Given the description of an element on the screen output the (x, y) to click on. 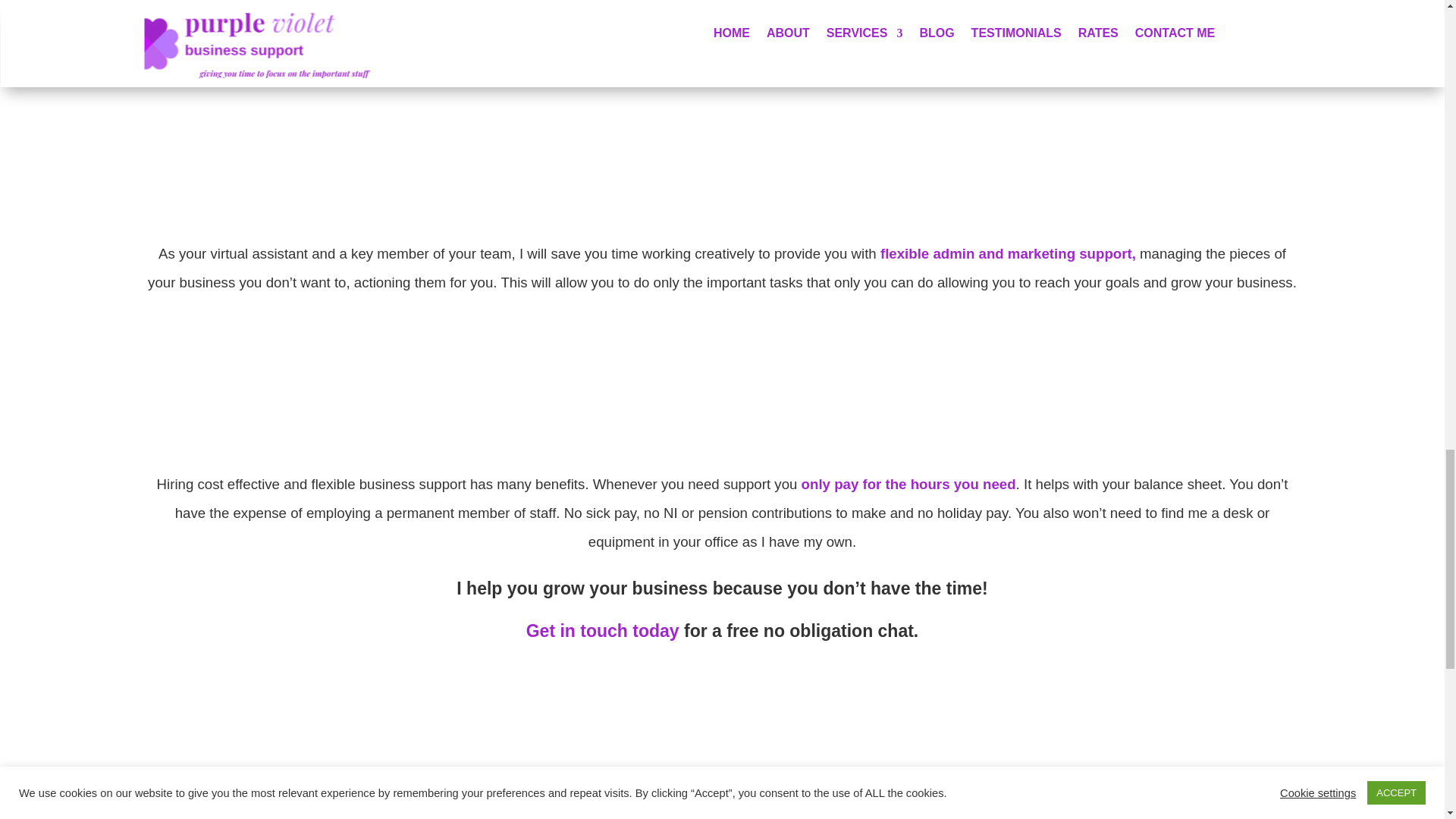
Get in touch today (602, 630)
flexible admin and marketing support, (1007, 253)
only pay for the hours you need (909, 483)
